Given the description of an element on the screen output the (x, y) to click on. 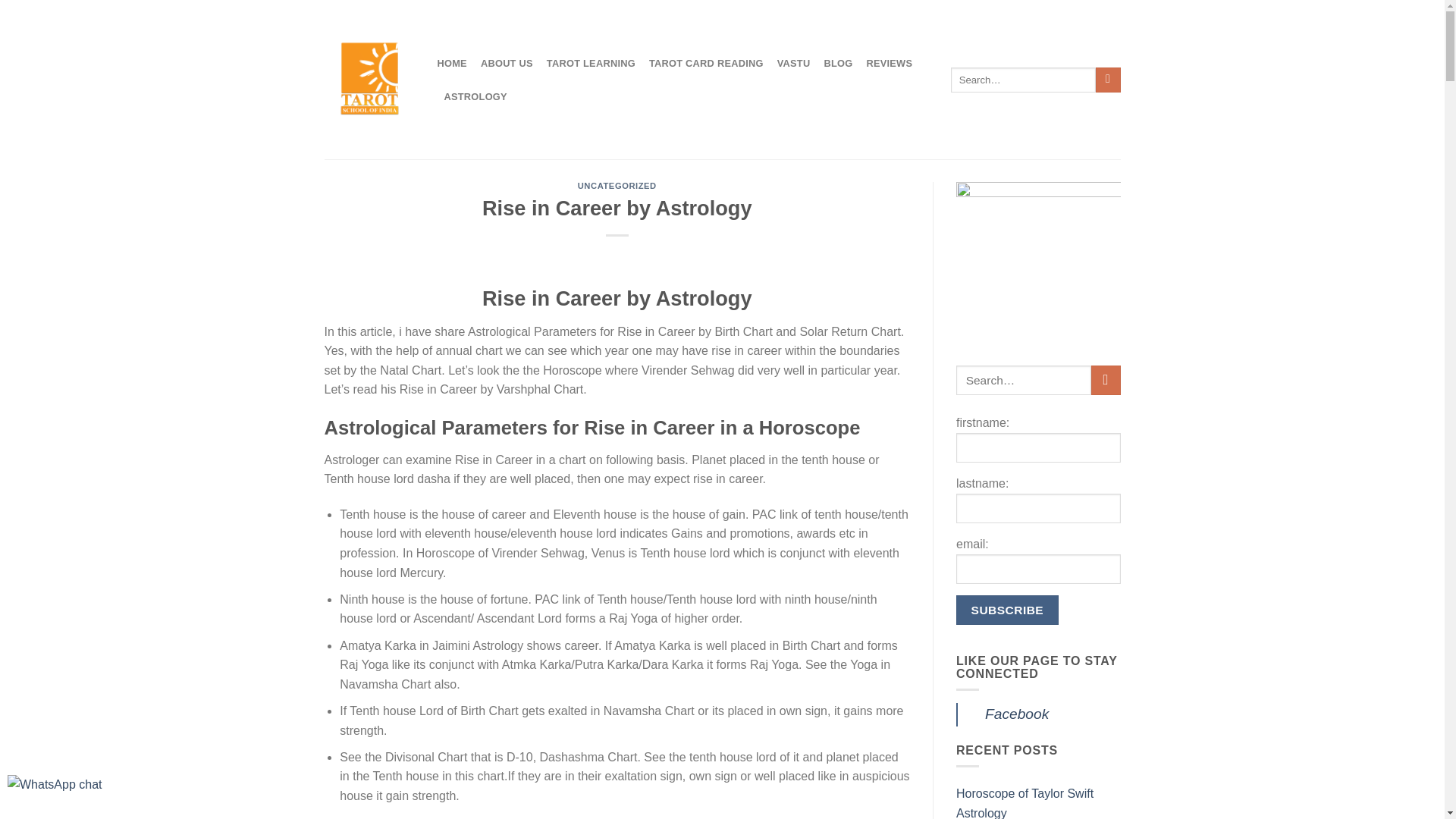
ABOUT US (506, 63)
Subscribe (1007, 609)
ASTROLOGY (475, 96)
Tarot School of India -  (369, 80)
REVIEWS (889, 63)
TAROT CARD READING (705, 63)
TAROT LEARNING (590, 63)
Subscribe (1007, 609)
UNCATEGORIZED (617, 185)
